Given the description of an element on the screen output the (x, y) to click on. 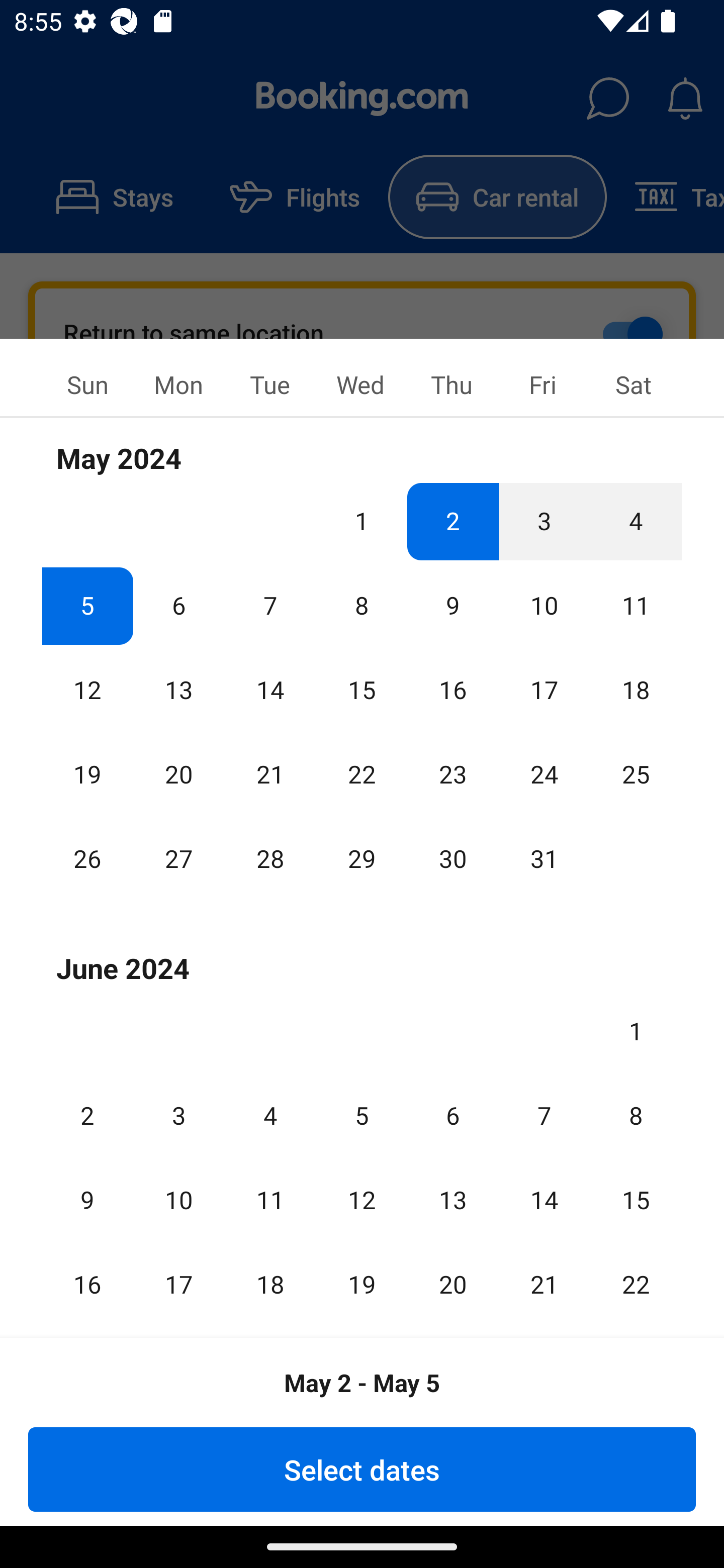
Select dates (361, 1468)
